Given the description of an element on the screen output the (x, y) to click on. 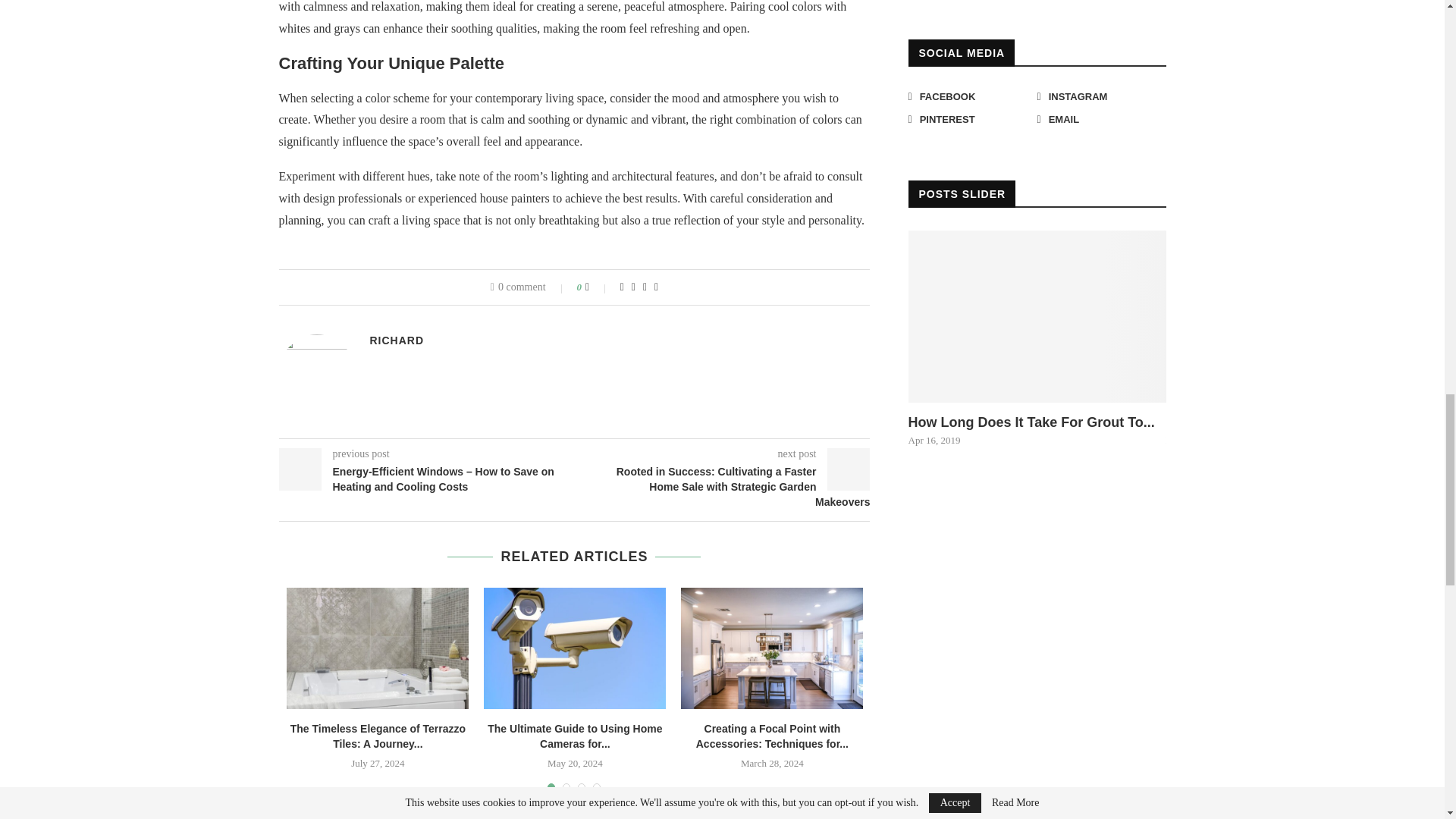
Like (597, 287)
Posts by Richard (397, 340)
